Given the description of an element on the screen output the (x, y) to click on. 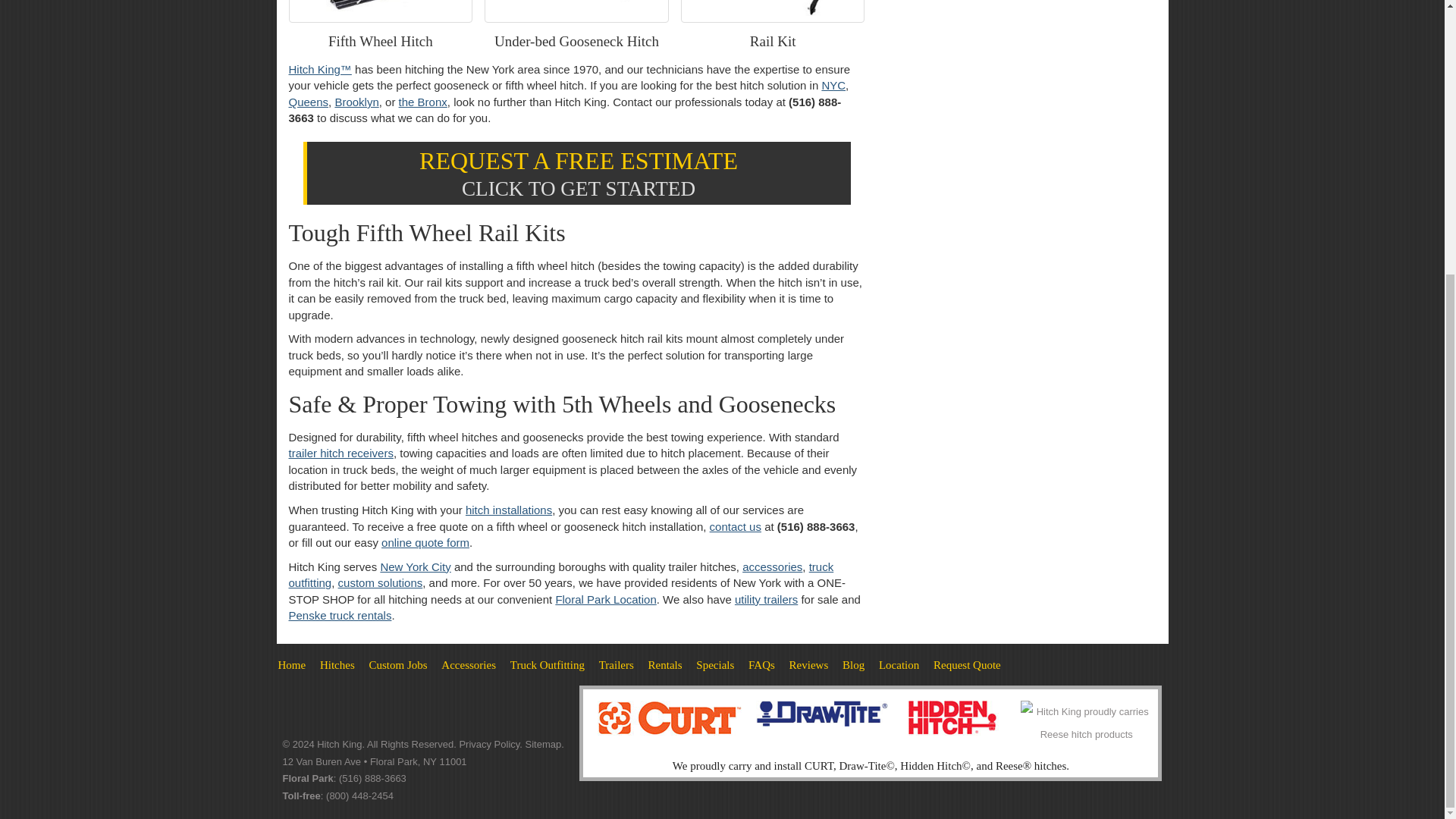
Custom Hitches (397, 664)
Customer Reviews (808, 664)
Trailer Hitch (337, 664)
Request a Quote (967, 664)
Current Specials (714, 664)
Utility Trailers (615, 664)
Truck Outfitting (548, 664)
Frequently Asked Questions (761, 664)
Blog (853, 664)
Moving Truck Rentals (664, 664)
